Given the description of an element on the screen output the (x, y) to click on. 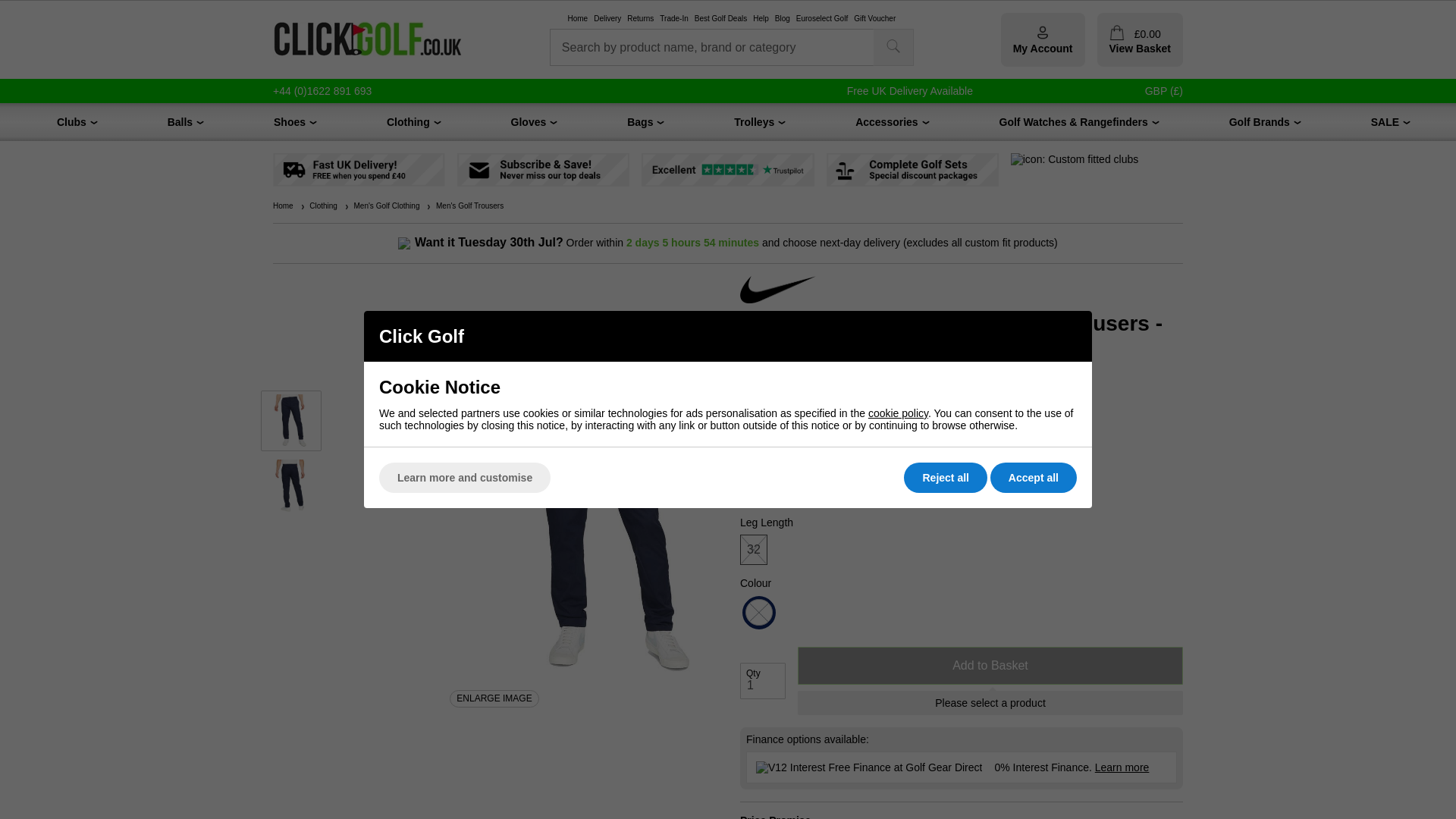
Euroselect Golf (821, 18)
1605309 (708, 499)
Balls (179, 121)
Nike Dri-Fit UV Chino Slim Golf Trousers - Obsidian (290, 420)
Nike Dri-Fit UV Chino Slim Golf Trousers - Obsidian (290, 485)
Mix 'N' Match Multi Buy Offer - Clothing (684, 390)
Best Golf Deals (720, 18)
Trade-In (673, 18)
Delivery (607, 18)
Prices displayed in GBP (1163, 91)
Clubs (70, 121)
Home (577, 18)
Shoes (289, 121)
Gift Voucher (874, 18)
Help (760, 18)
